Given the description of an element on the screen output the (x, y) to click on. 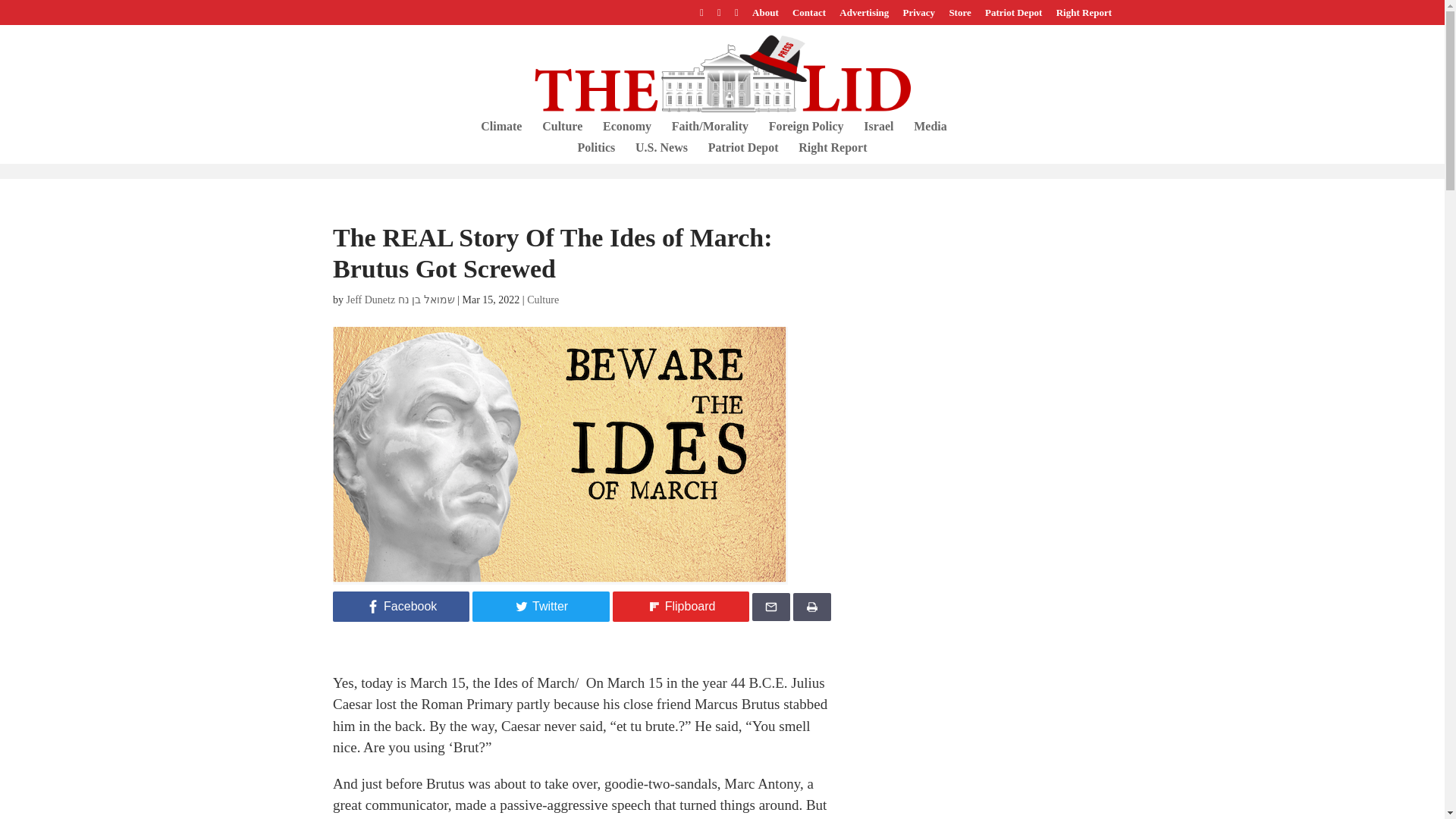
Flipboard (680, 606)
U.S. News (660, 152)
Facebook (400, 606)
Media (930, 131)
Culture (561, 131)
Advertising (864, 16)
Right Report (1084, 16)
Israel (878, 131)
Foreign Policy (806, 131)
Patriot Depot (742, 152)
